Given the description of an element on the screen output the (x, y) to click on. 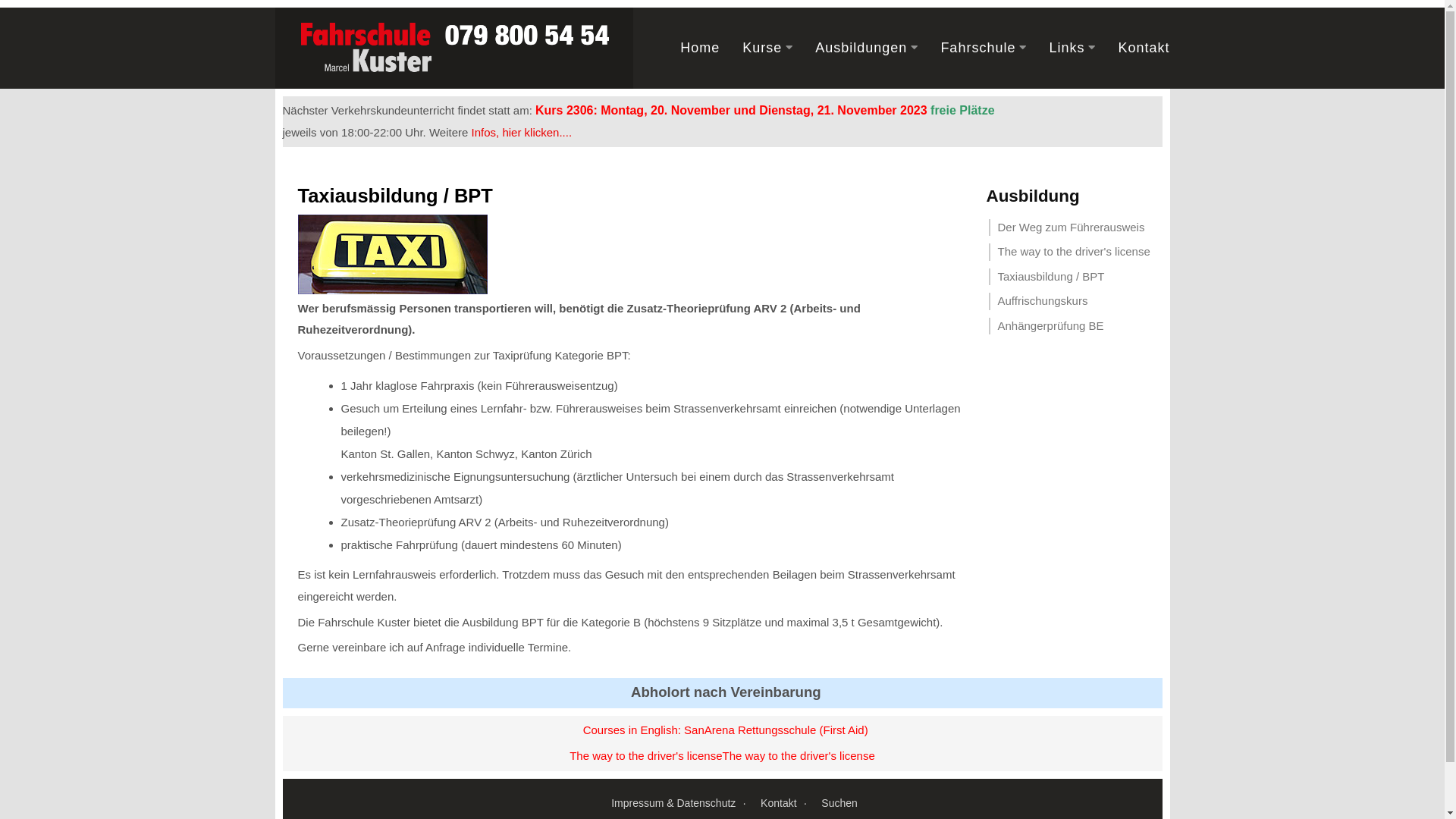
Taxiausbildung / BPT Element type: text (1075, 276)
Kurse Element type: text (761, 47)
Kontakt Element type: text (783, 803)
Impressum & Datenschutz Element type: text (678, 803)
Fahrschule Element type: text (977, 47)
The way to the driver's license Element type: text (1075, 251)
Courses in English: SanArena Rettungsschule (First Aid) Element type: text (725, 729)
Links Element type: text (1066, 47)
Home Element type: text (699, 47)
Infos, hier klicken.... Element type: text (521, 131)
Ausbildungen Element type: text (860, 47)
Kontakt Element type: text (1143, 47)
Suchen Element type: text (838, 802)
Auffrischungskurs Element type: text (1075, 301)
